Given the description of an element on the screen output the (x, y) to click on. 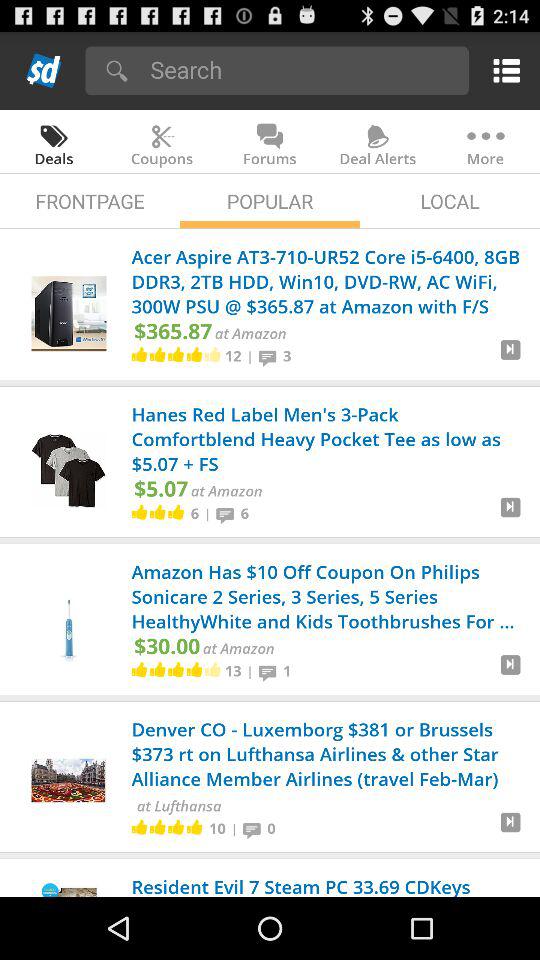
turn on the item next to popular icon (90, 200)
